Given the description of an element on the screen output the (x, y) to click on. 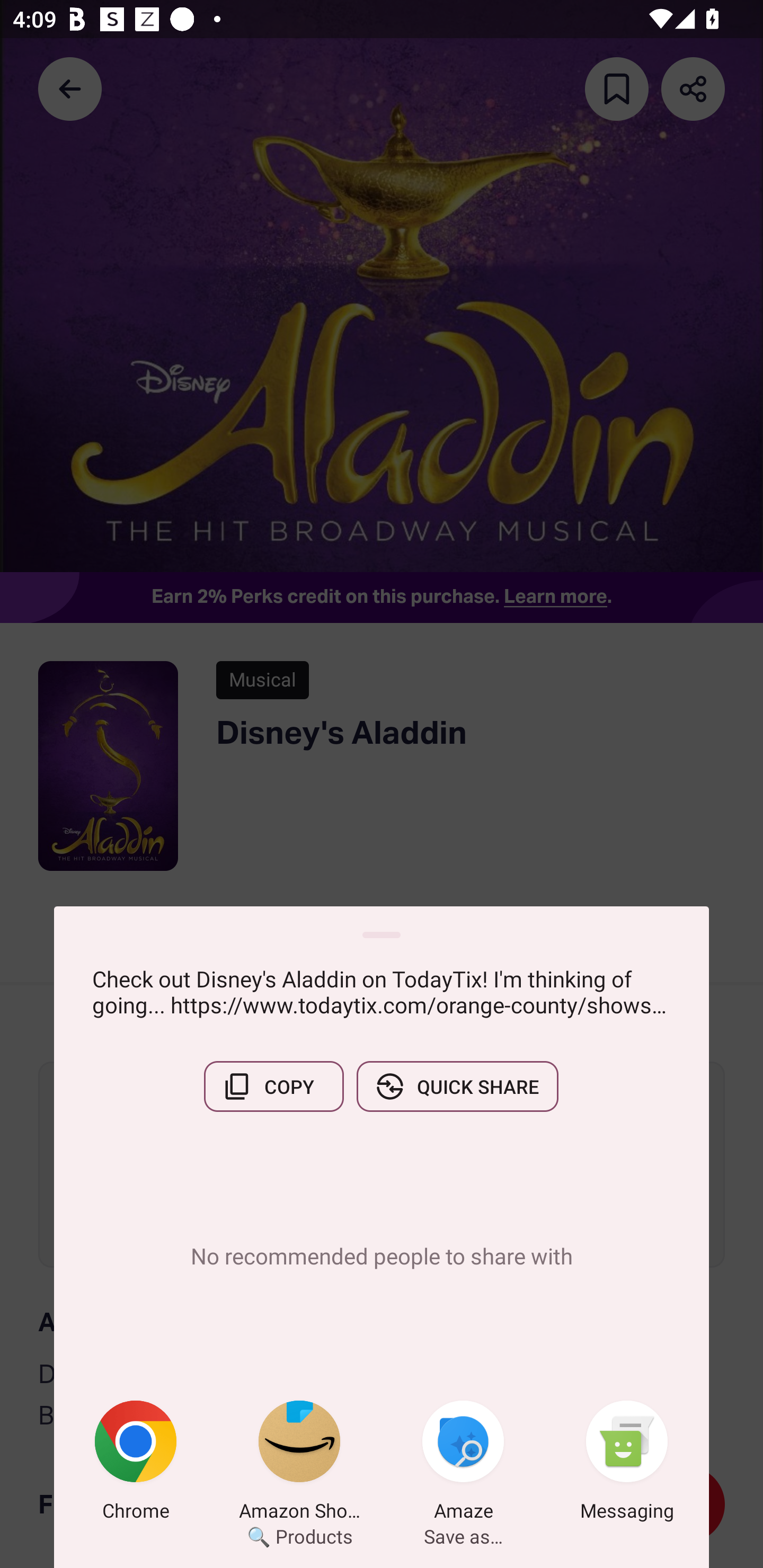
COPY (273, 1086)
QUICK SHARE (457, 1086)
Chrome (135, 1463)
Amazon Shopping 🔍 Products (299, 1463)
Amaze Save as… (463, 1463)
Messaging (626, 1463)
